Given the description of an element on the screen output the (x, y) to click on. 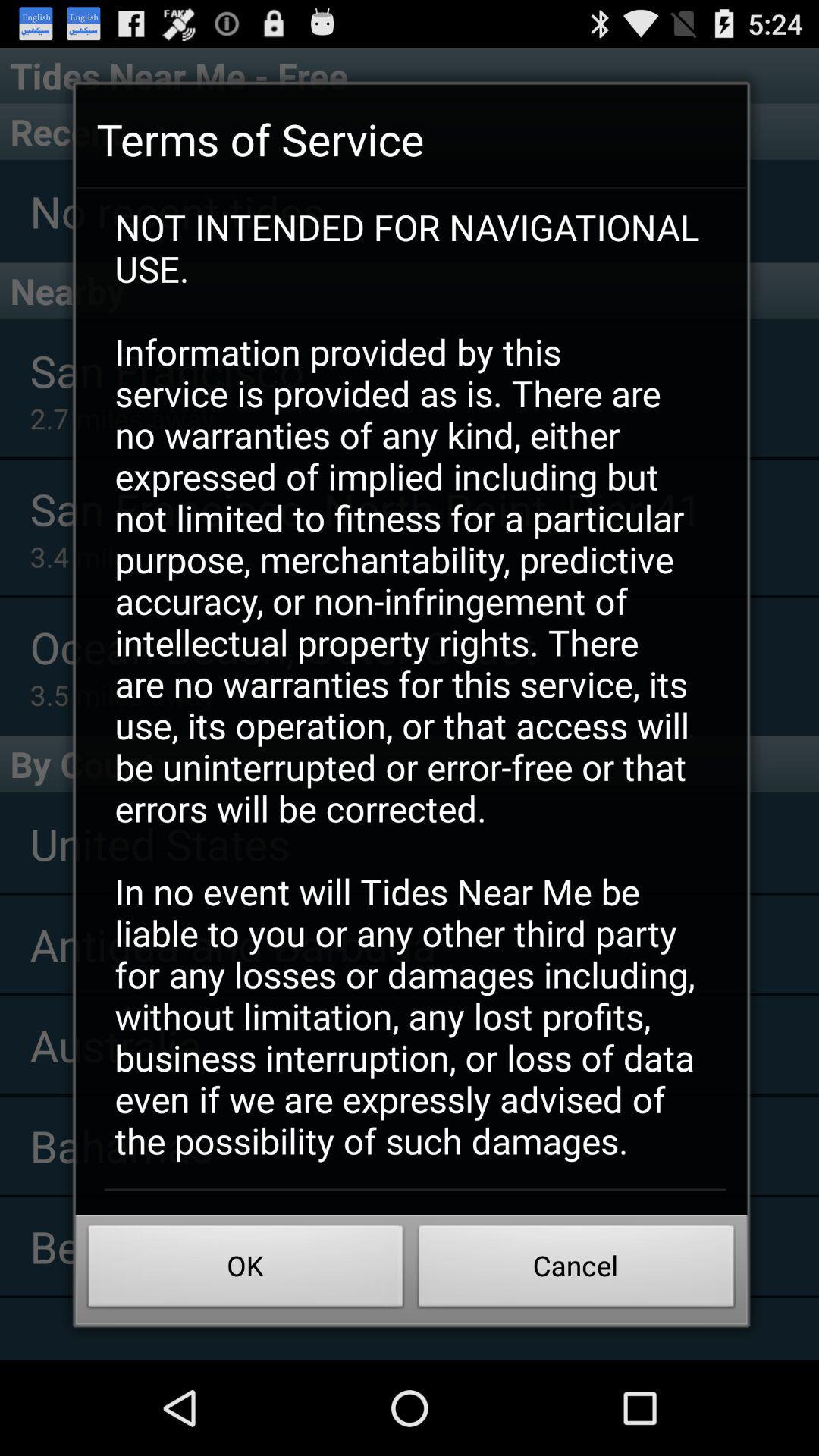
tap the icon below not intended for icon (245, 1270)
